Given the description of an element on the screen output the (x, y) to click on. 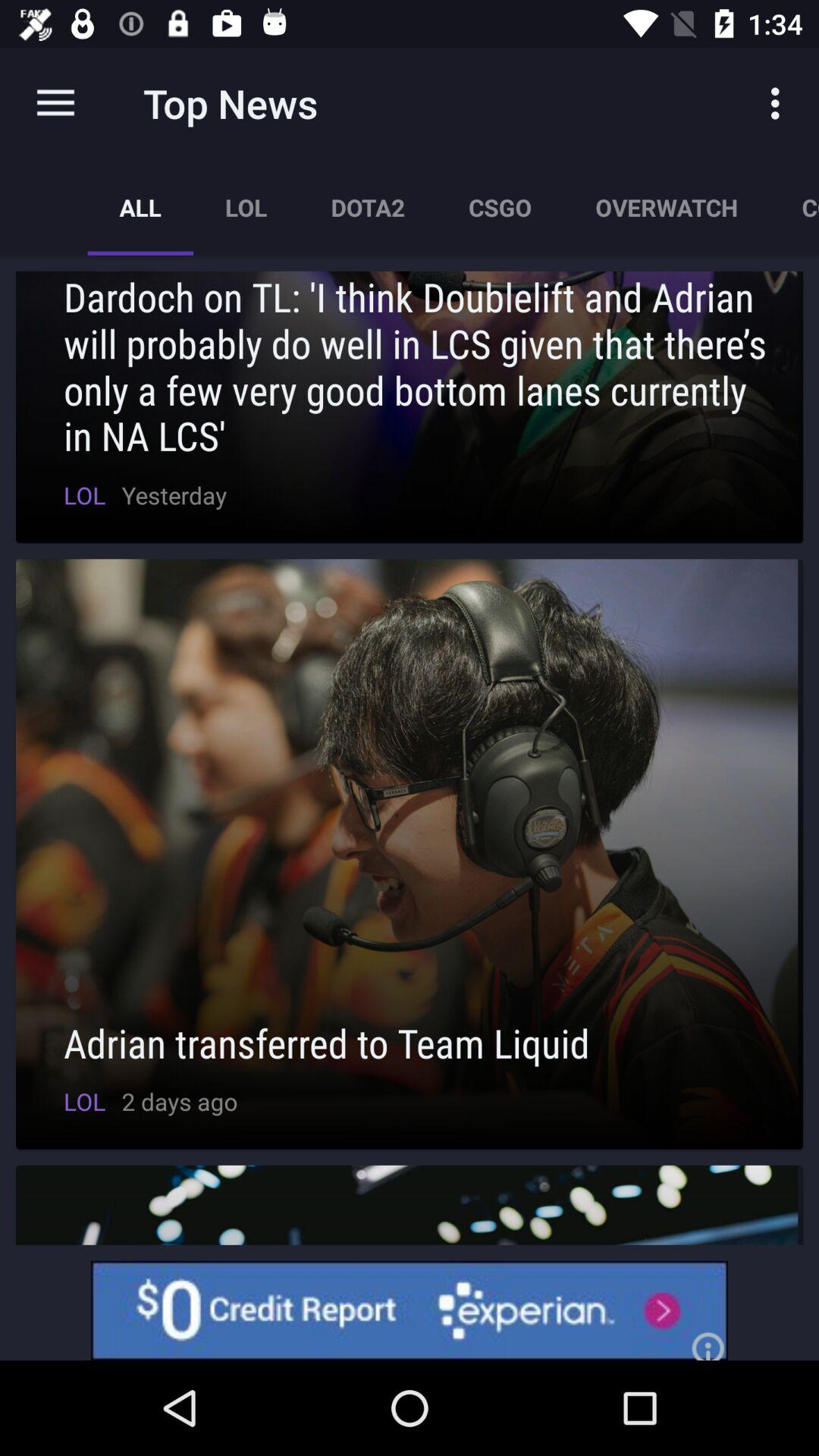
experian advertisement (409, 1310)
